Given the description of an element on the screen output the (x, y) to click on. 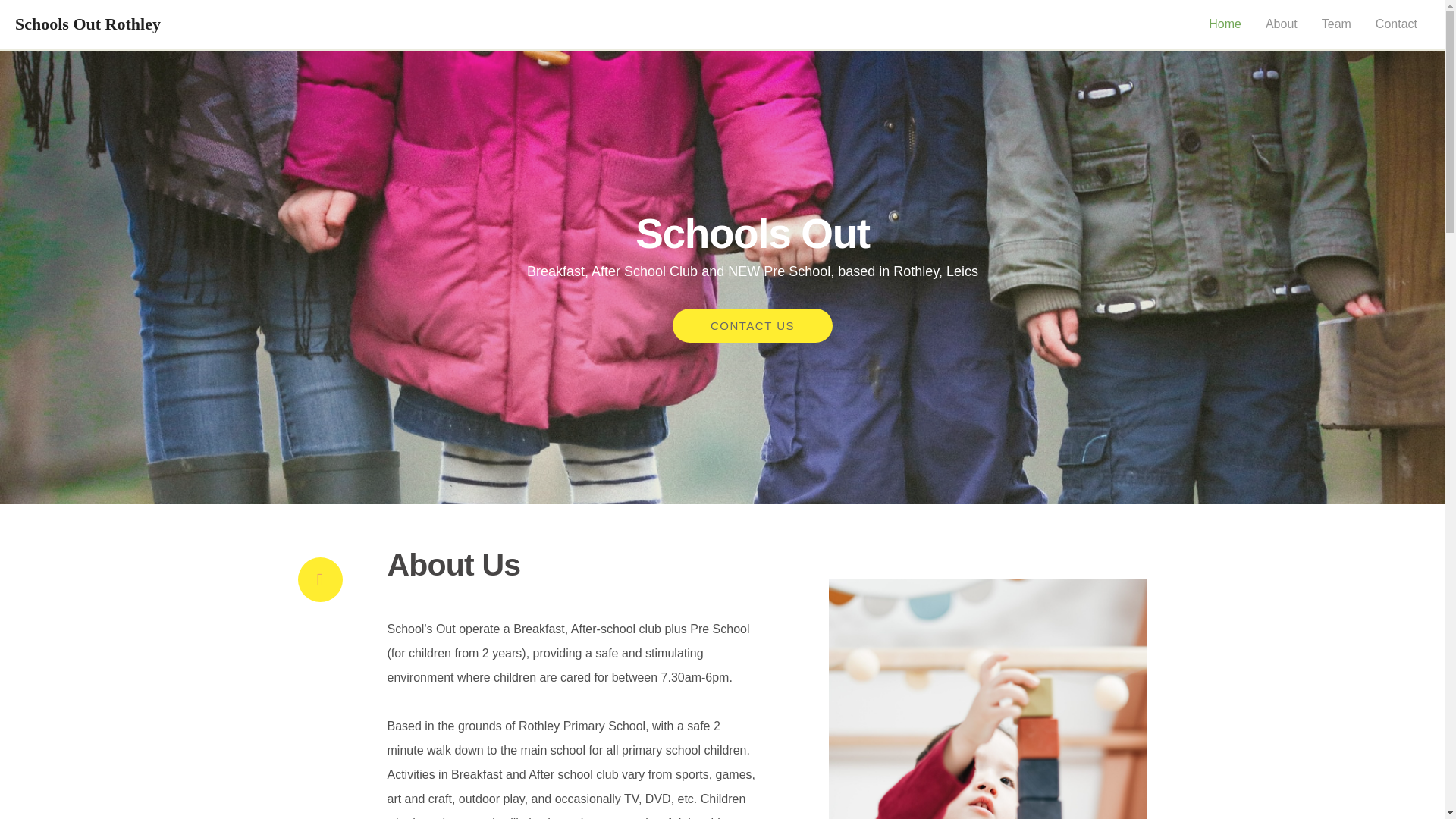
Team (1335, 24)
Schools Out Rothley (87, 23)
About (1280, 24)
Home (1224, 24)
Contact (1395, 24)
CONTACT US (752, 406)
